Given the description of an element on the screen output the (x, y) to click on. 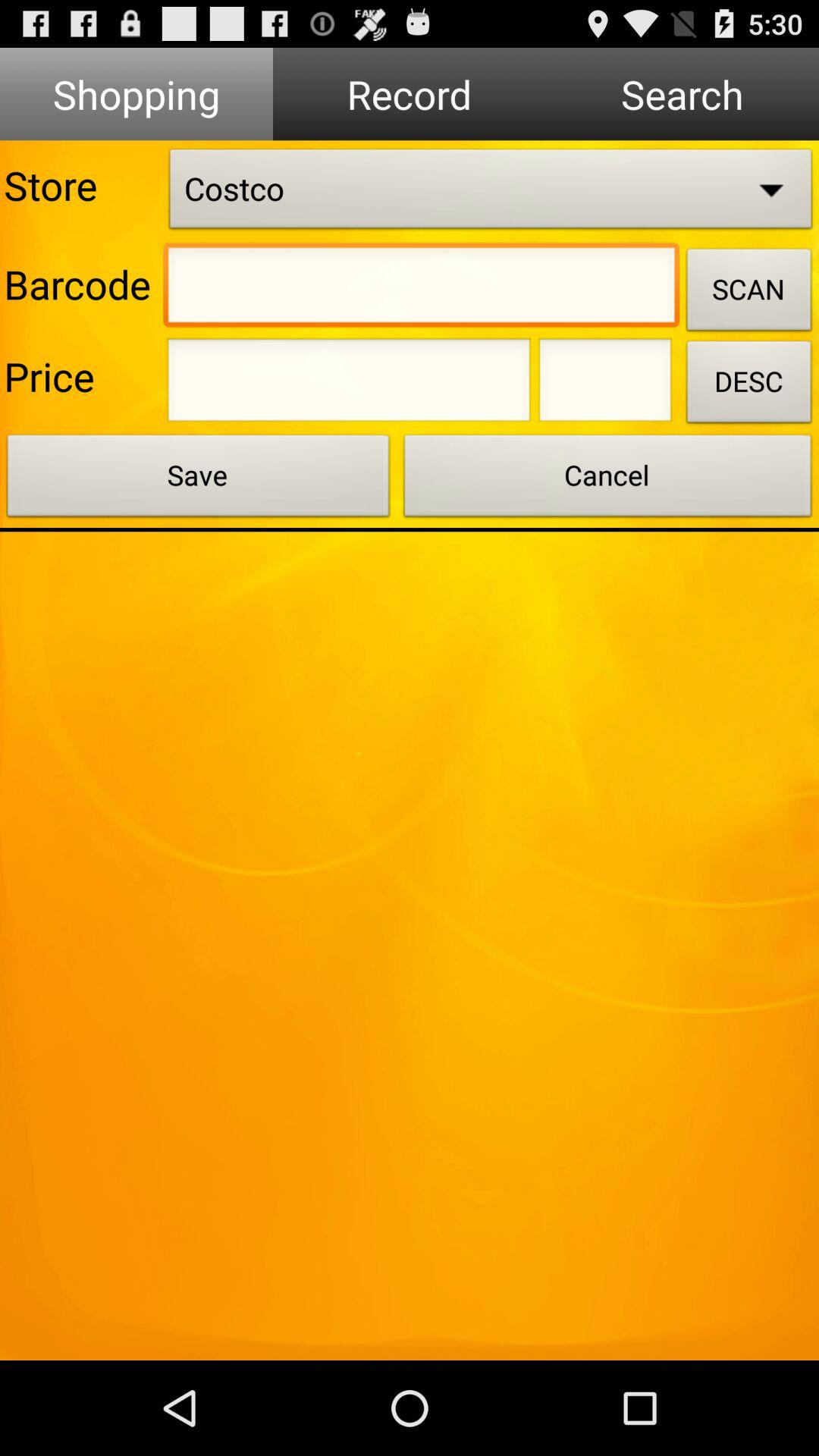
google search (421, 288)
